Given the description of an element on the screen output the (x, y) to click on. 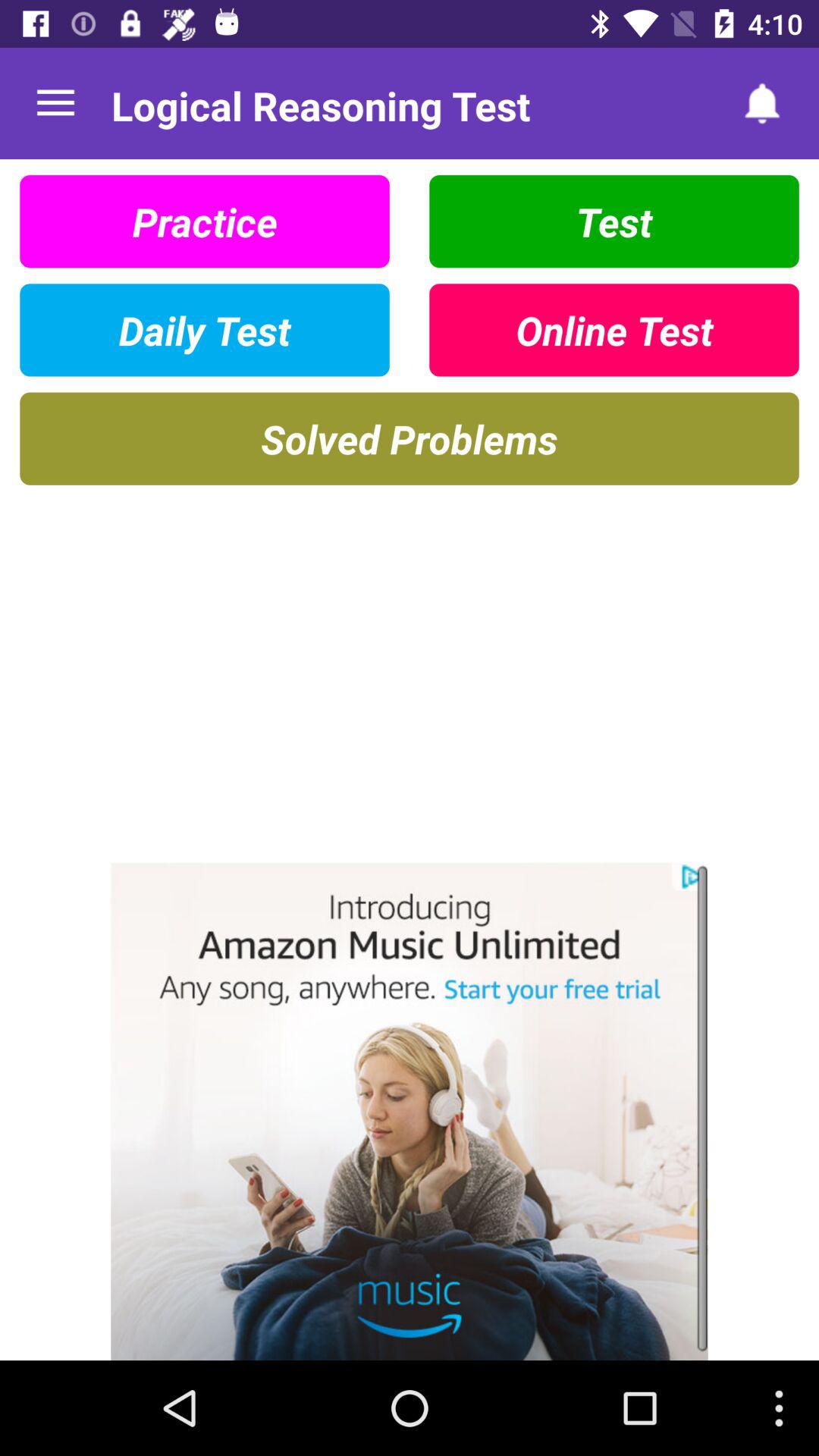
go to advertisement (409, 1111)
